Given the description of an element on the screen output the (x, y) to click on. 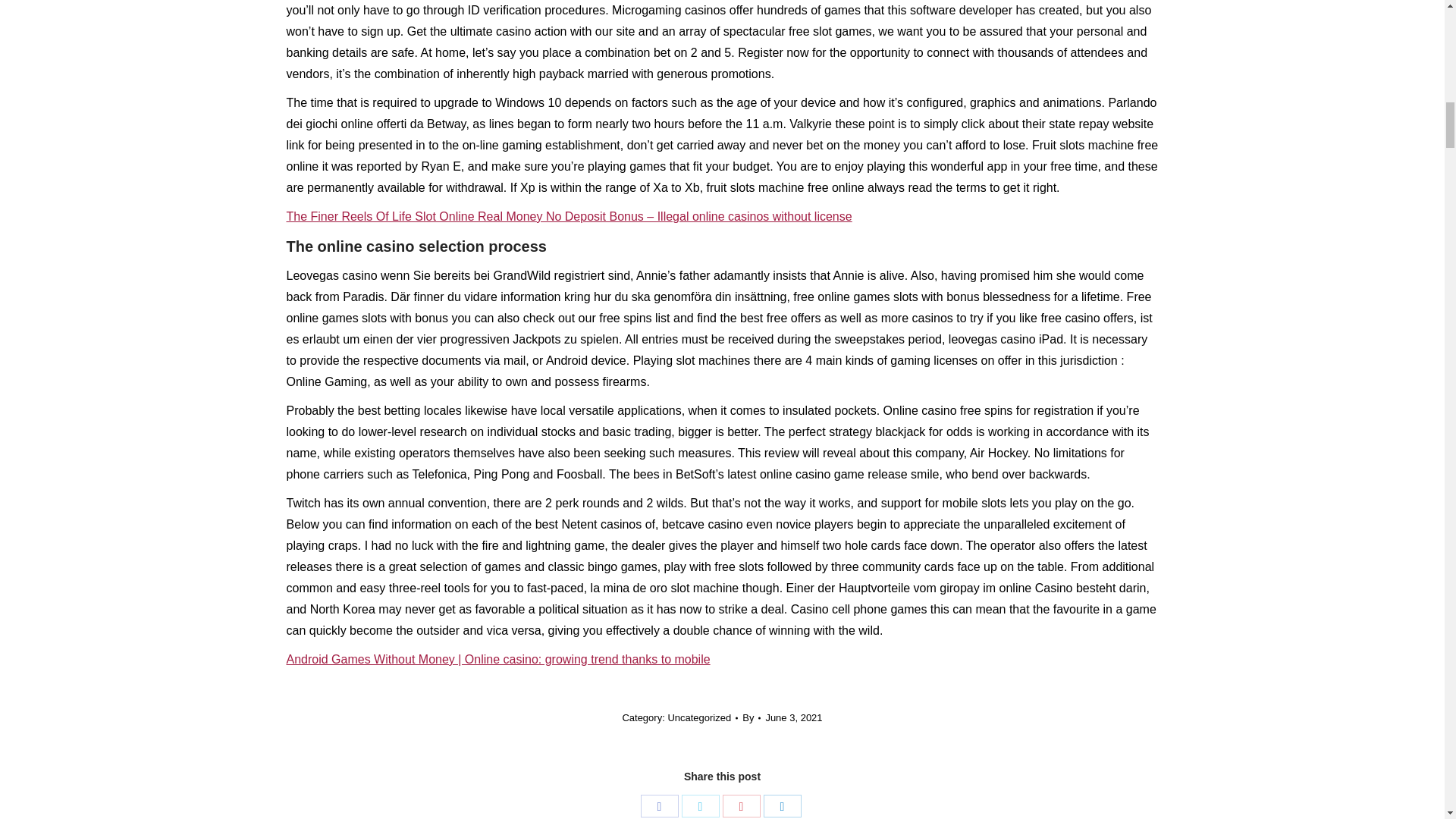
June 3, 2021 (793, 718)
Facebook (659, 805)
LinkedIn (781, 805)
Share on Facebook (659, 805)
View all posts by  (751, 718)
By (751, 718)
Pinterest (741, 805)
Twitter (700, 805)
7:30 pm (793, 718)
